Given the description of an element on the screen output the (x, y) to click on. 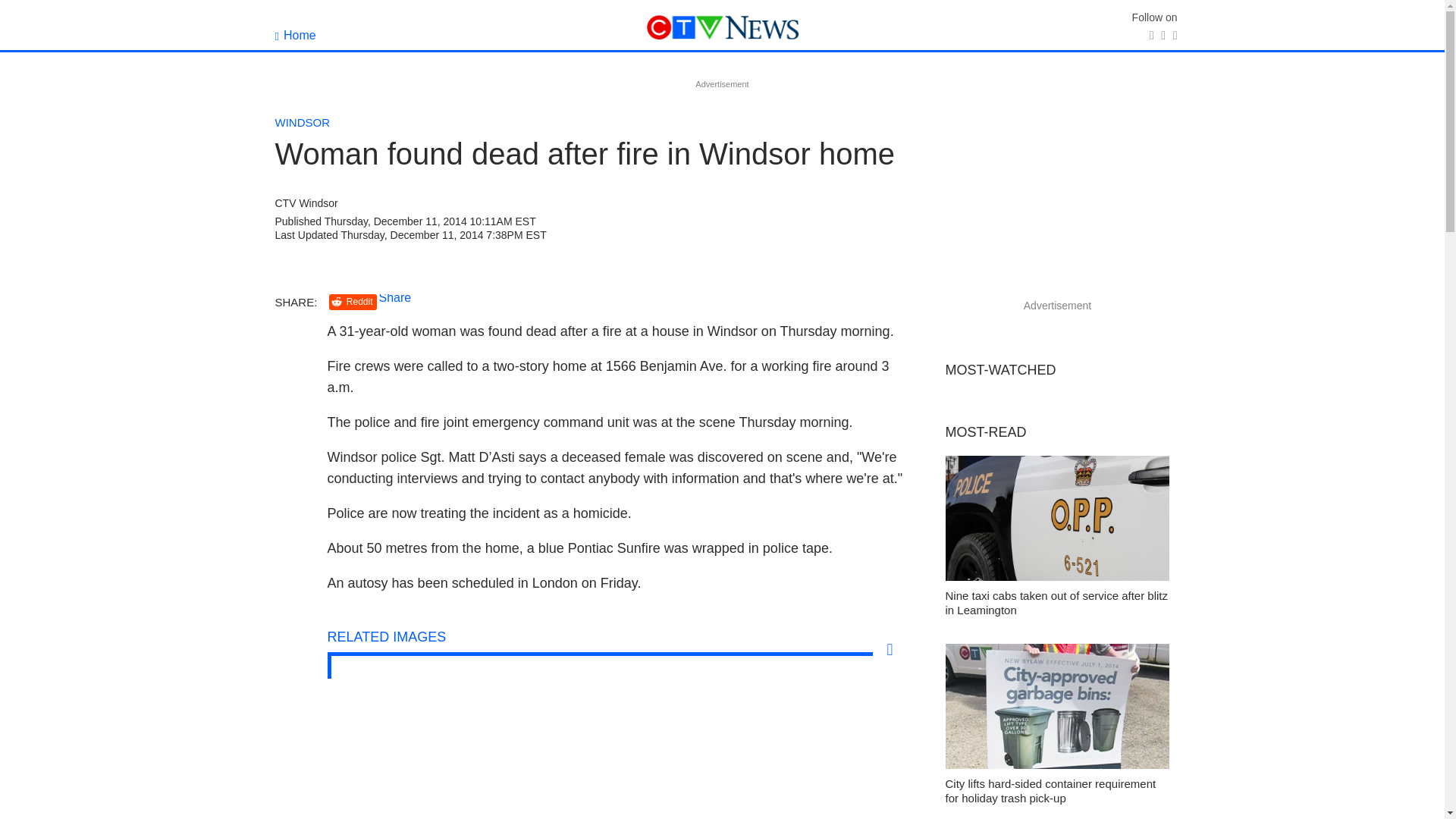
Home (295, 34)
Share (395, 297)
Reddit (353, 302)
WINDSOR (302, 122)
